Given the description of an element on the screen output the (x, y) to click on. 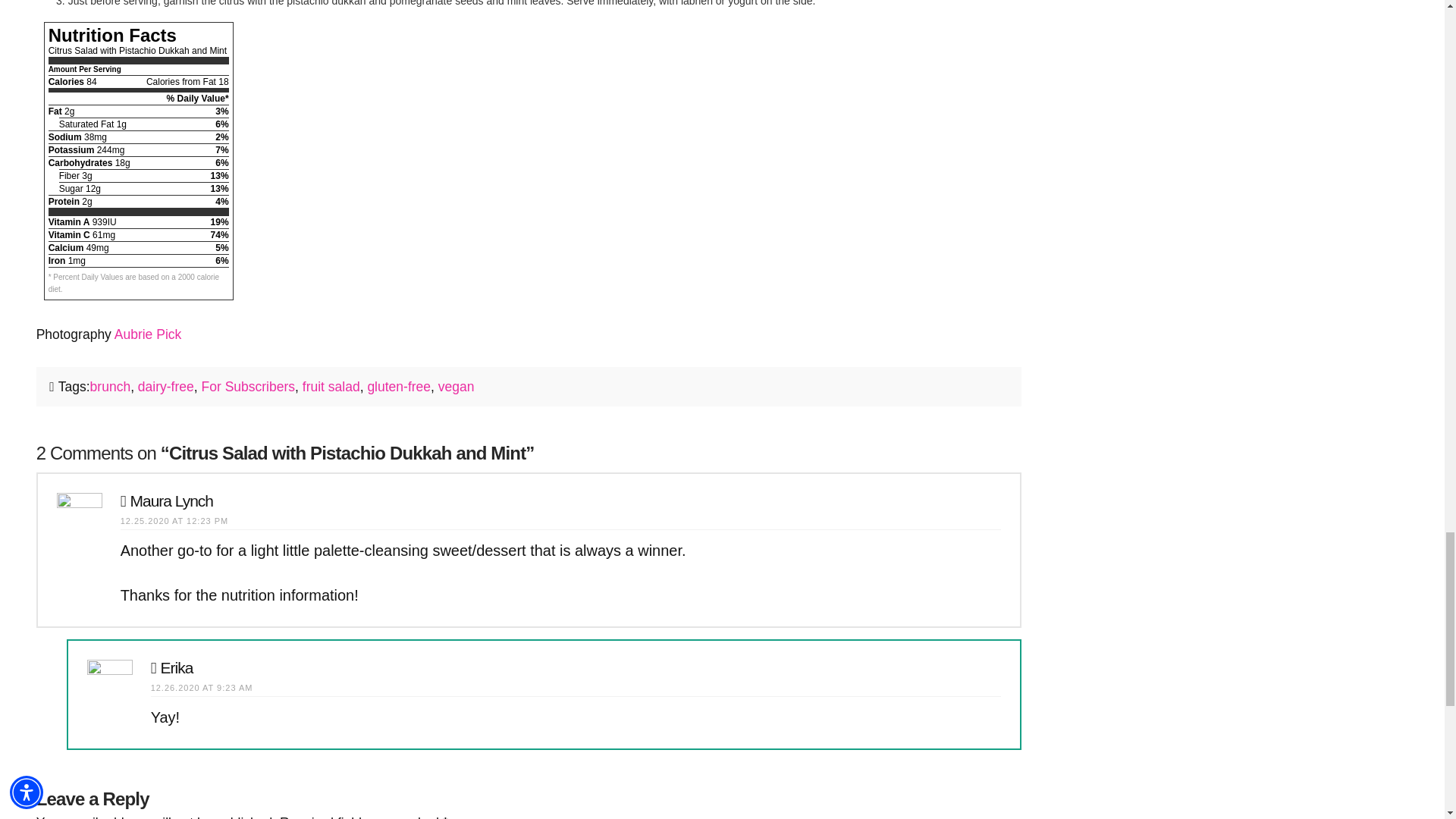
For Subscribers (248, 386)
brunch (110, 386)
dairy-free (165, 386)
Aubrie Pick (148, 334)
